Given the description of an element on the screen output the (x, y) to click on. 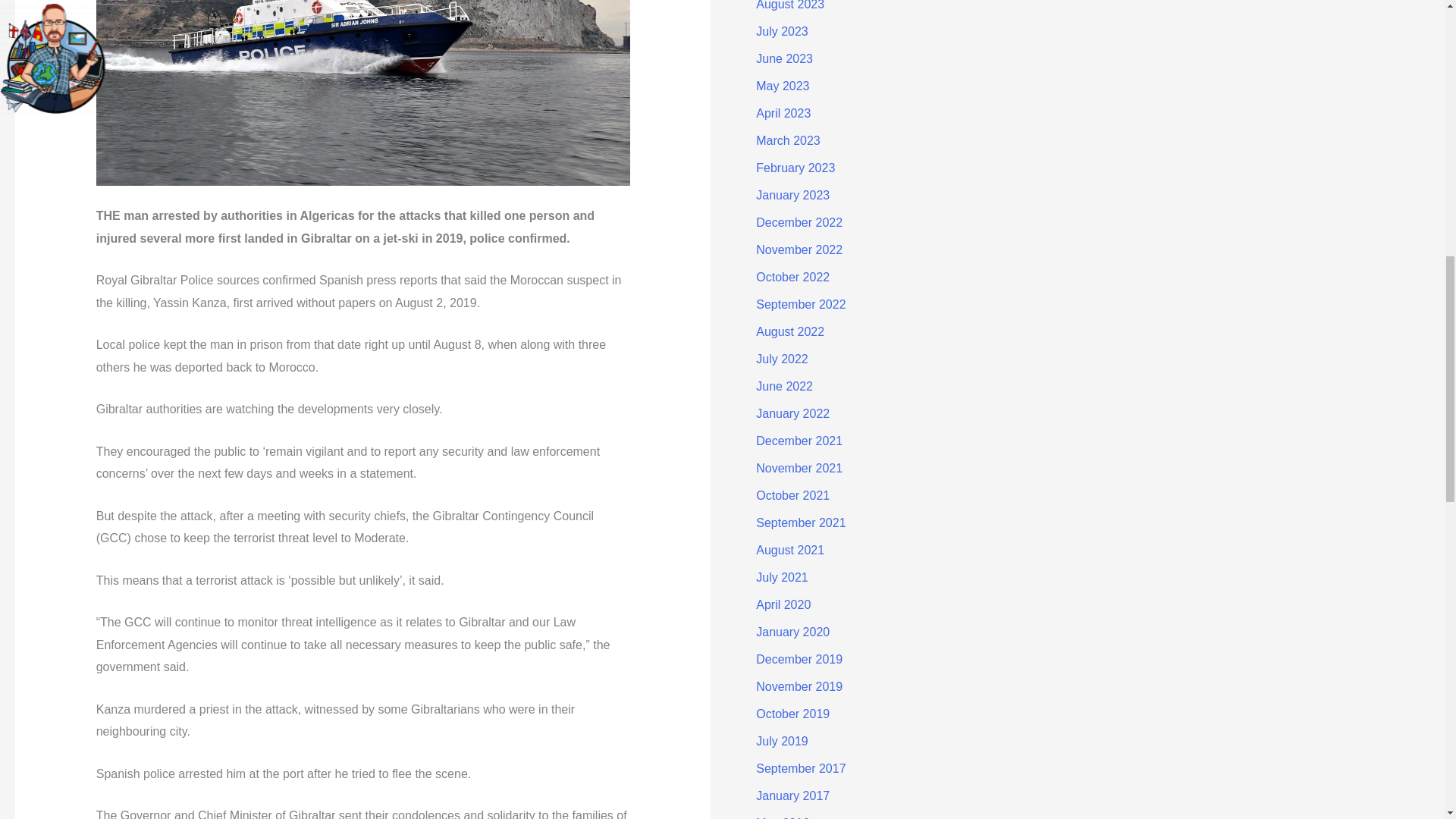
August 2023 (789, 5)
February 2023 (794, 167)
April 2023 (782, 113)
June 2023 (783, 58)
July 2023 (781, 31)
March 2023 (788, 140)
May 2023 (782, 85)
January 2023 (792, 195)
